Given the description of an element on the screen output the (x, y) to click on. 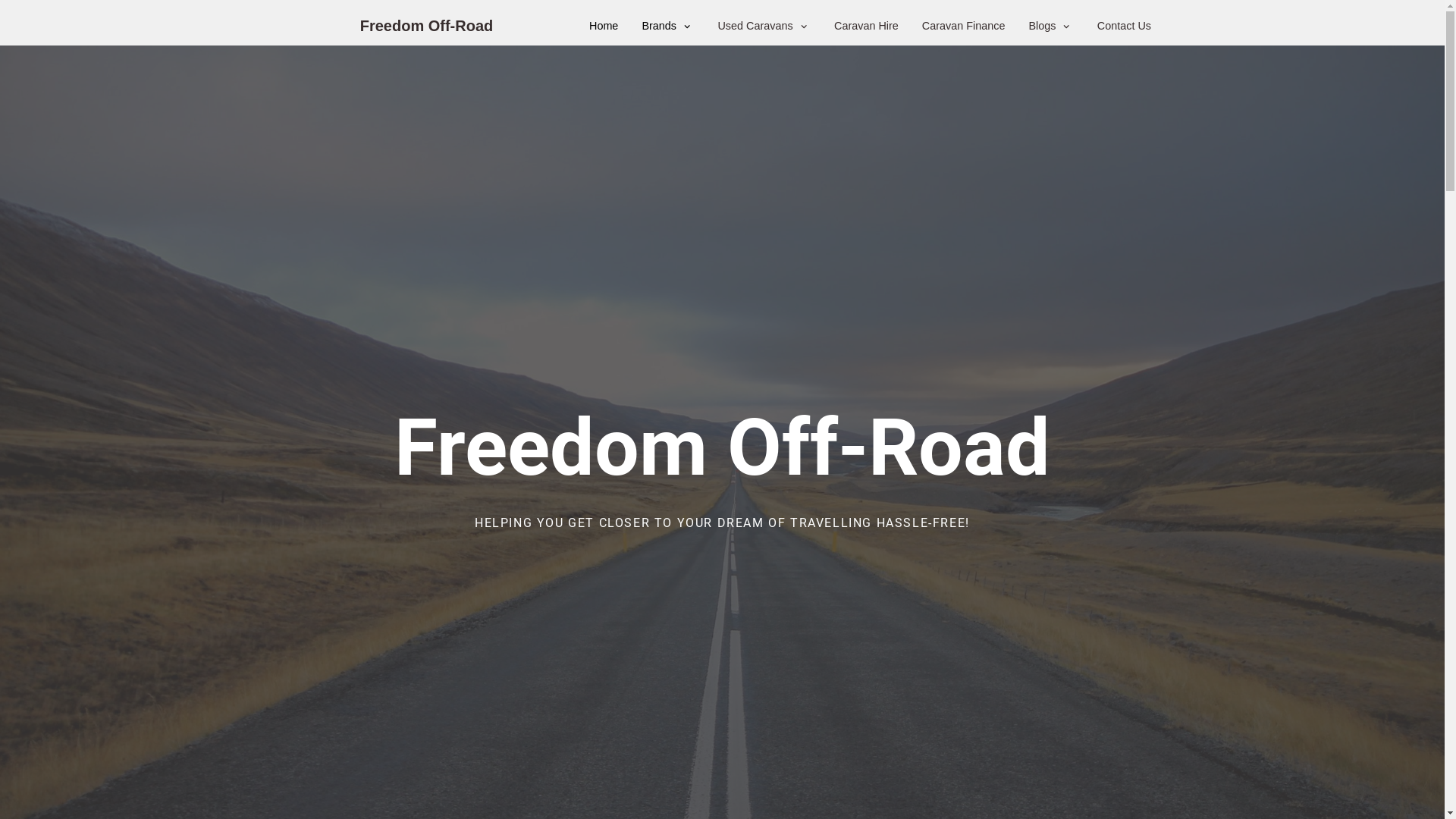
Brands Element type: text (667, 25)
Contact Us Element type: text (1124, 25)
Caravan Finance Element type: text (963, 25)
Home Element type: text (603, 25)
Skip to content Element type: text (15, 7)
Caravan Hire Element type: text (866, 25)
Freedom Off-Road Element type: text (426, 26)
Used Caravans Element type: text (763, 25)
Blogs Element type: text (1050, 25)
